Given the description of an element on the screen output the (x, y) to click on. 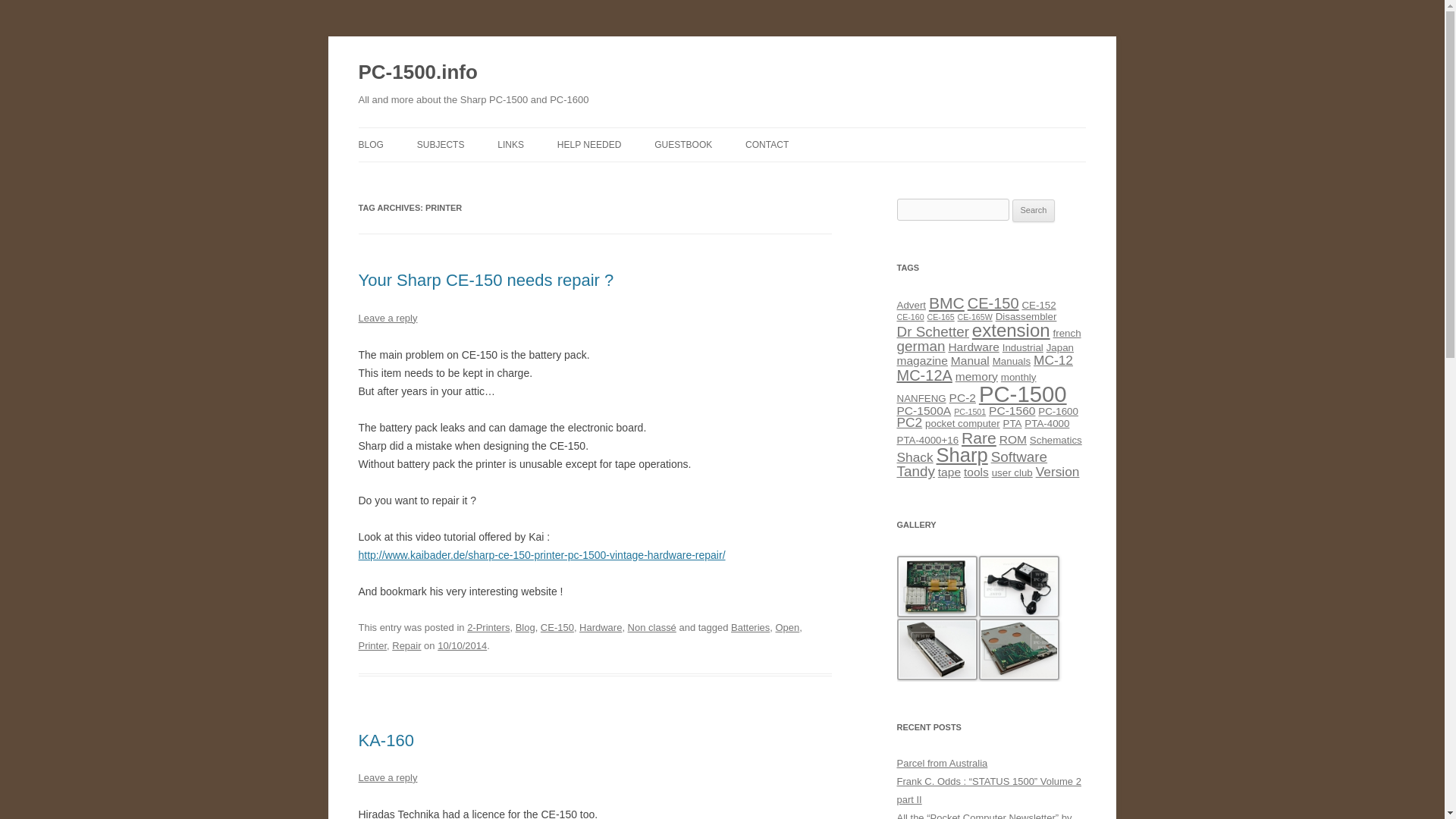
Open (787, 627)
Leave a reply (387, 777)
20:02 (462, 645)
PC-1500.info (417, 72)
Printer (372, 645)
Blog (525, 627)
GUESTBOOK (682, 144)
KA-160 (385, 740)
CE-150 (556, 627)
THE FAMILY (492, 176)
HELP NEEDED (589, 144)
Repair (405, 645)
Your Sharp CE-150 needs repair ? (485, 280)
CONTACT (767, 144)
